Given the description of an element on the screen output the (x, y) to click on. 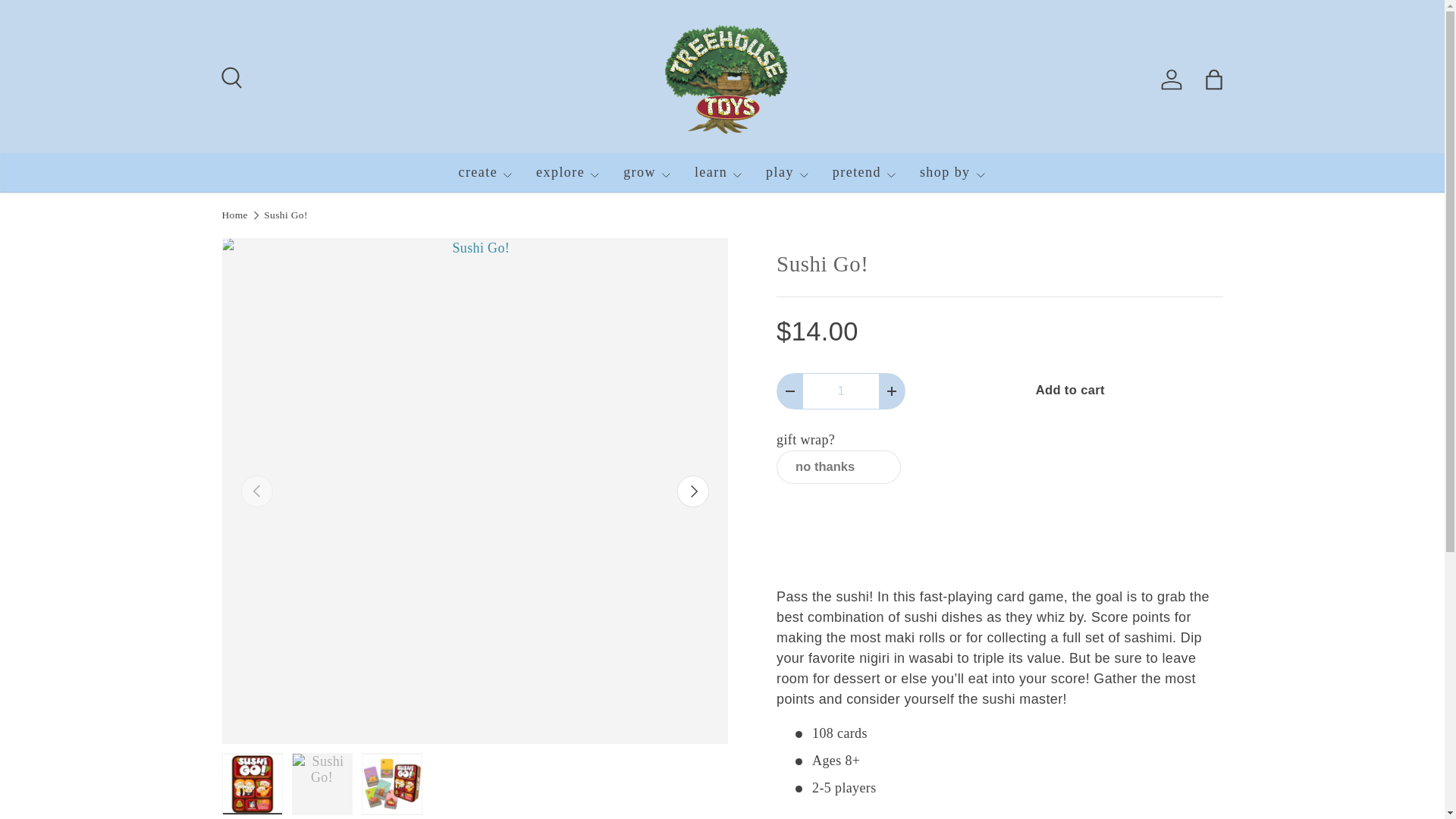
1 (841, 391)
Search (229, 75)
create (485, 172)
Bag (1213, 79)
Log in (1171, 79)
Skip to content (64, 21)
